Given the description of an element on the screen output the (x, y) to click on. 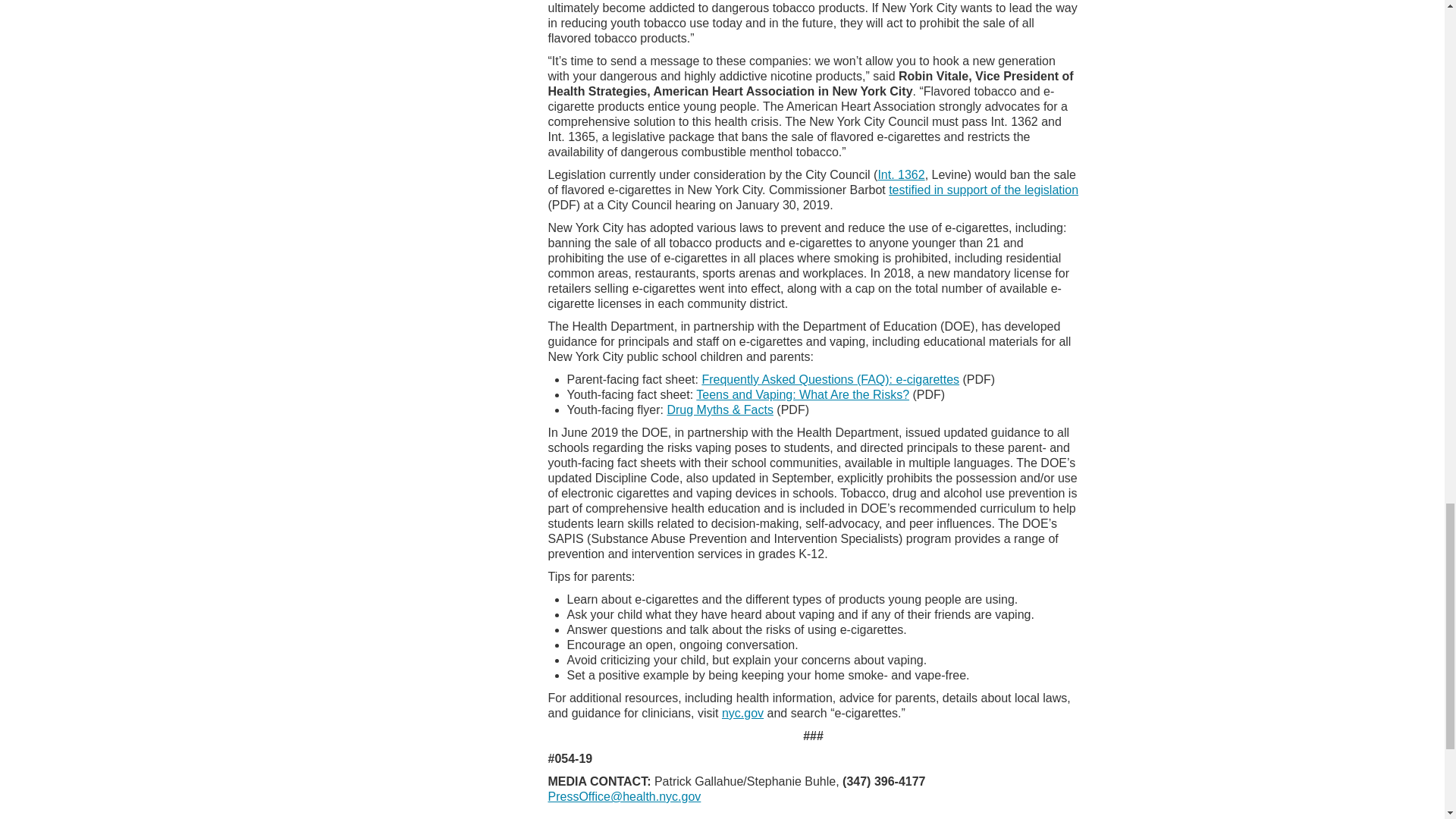
Int. 1362 (900, 174)
Teens and Vaping: What Are the Risks? (801, 394)
testified in support of the legislation (983, 189)
